Given the description of an element on the screen output the (x, y) to click on. 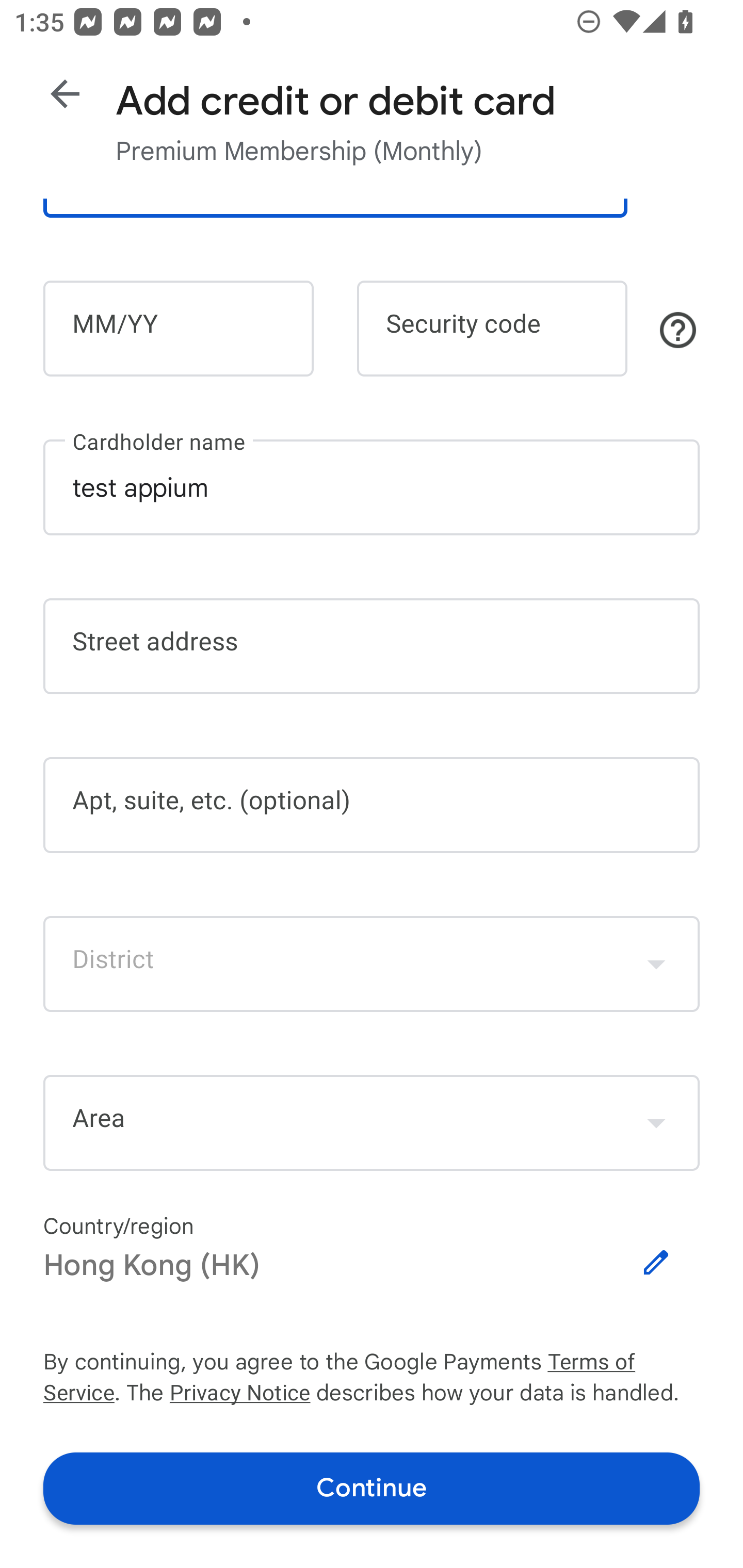
Back (64, 93)
Expiration date, 2 digit month, 2 digit year (178, 328)
Security code (492, 328)
Security code help (677, 329)
test appium (371, 486)
Street address (371, 646)
Apt, suite, etc. (optional) (371, 804)
District (371, 963)
Show dropdown menu (655, 963)
Area (371, 1123)
Show dropdown menu (655, 1122)
country edit button (655, 1262)
Terms of Service (623, 1362)
Privacy Notice (239, 1394)
Continue (371, 1487)
